Given the description of an element on the screen output the (x, y) to click on. 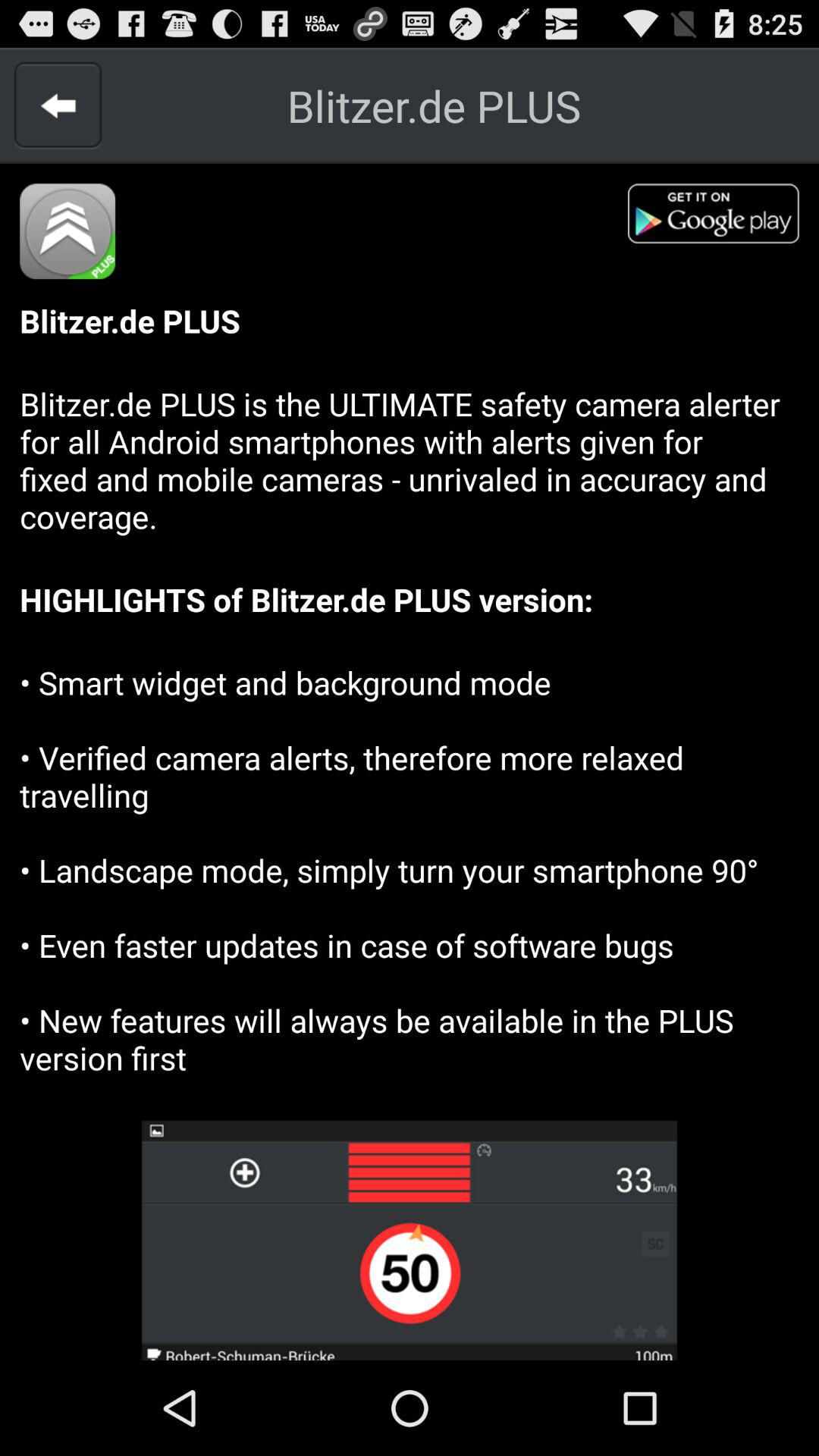
a back arrow to go back to the previous page (57, 105)
